Given the description of an element on the screen output the (x, y) to click on. 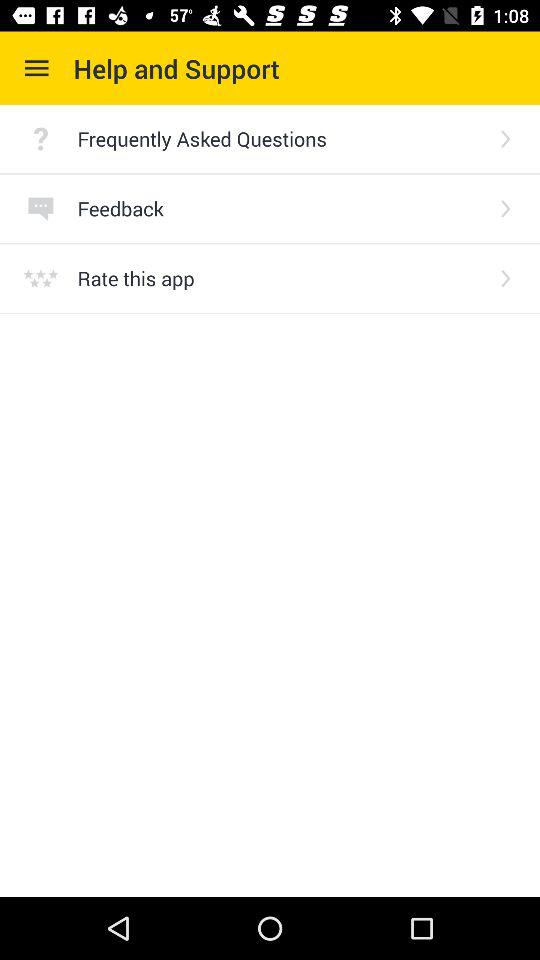
jump to the feedback item (280, 208)
